Given the description of an element on the screen output the (x, y) to click on. 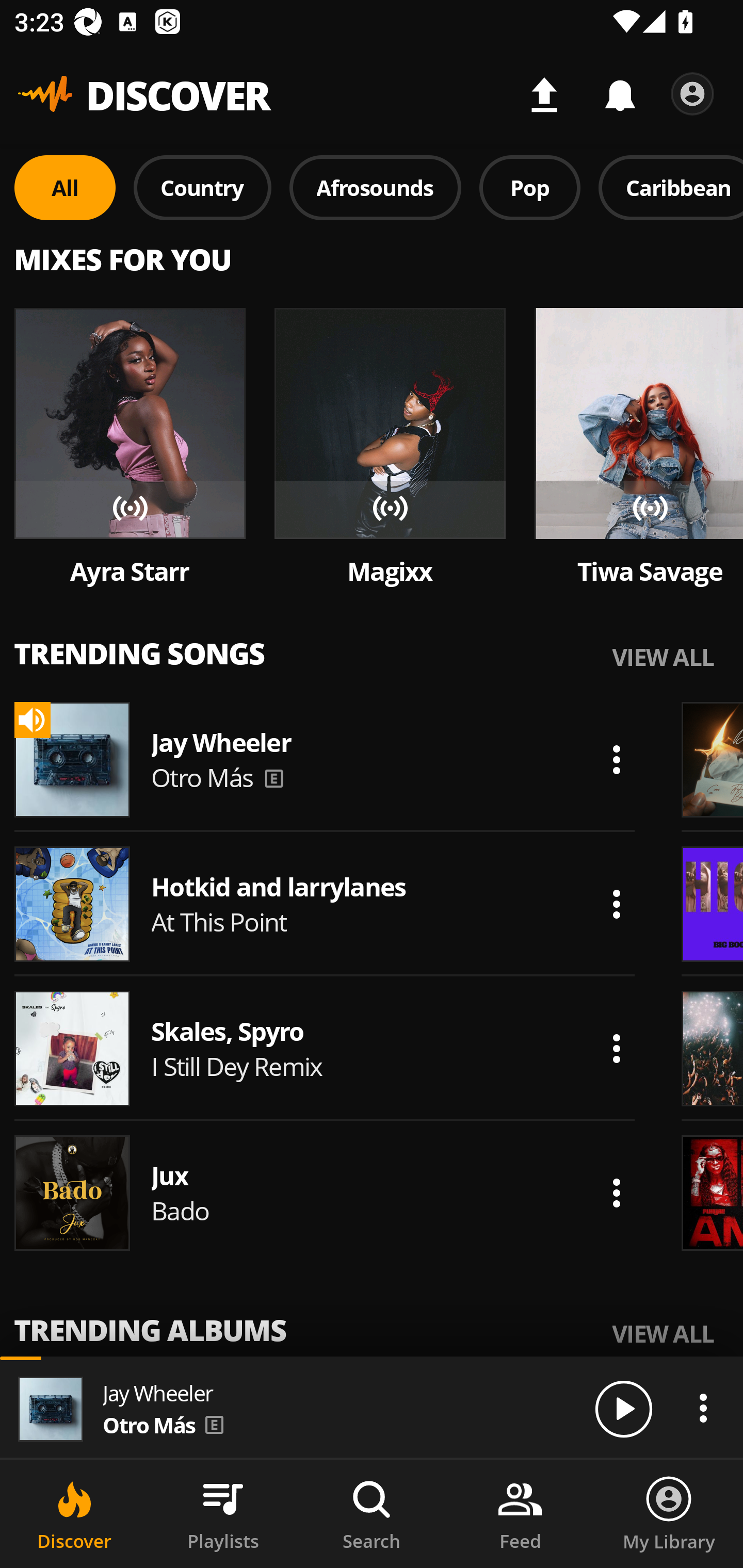
Settings (692, 94)
All (64, 187)
Country (202, 187)
Afrosounds (375, 187)
Pop (529, 187)
Caribbean (670, 187)
Song artwork Song artwork Song artwork Ayra Starr (129, 447)
Song artwork Song artwork Song artwork Magixx (389, 447)
Song artwork Song artwork Song artwork Tiwa Savage (638, 447)
VIEW ALL (663, 655)
Song artwork Jay Wheeler Otro Más    Actions (324, 759)
Actions (616, 759)
Actions (616, 903)
Actions (616, 1048)
Song artwork Jux Bado Actions (324, 1193)
Actions (616, 1193)
VIEW ALL (663, 1333)
Actions (703, 1407)
Play/Pause (623, 1408)
Discover (74, 1513)
Playlists (222, 1513)
Search (371, 1513)
Feed (519, 1513)
My Library (668, 1513)
